Given the description of an element on the screen output the (x, y) to click on. 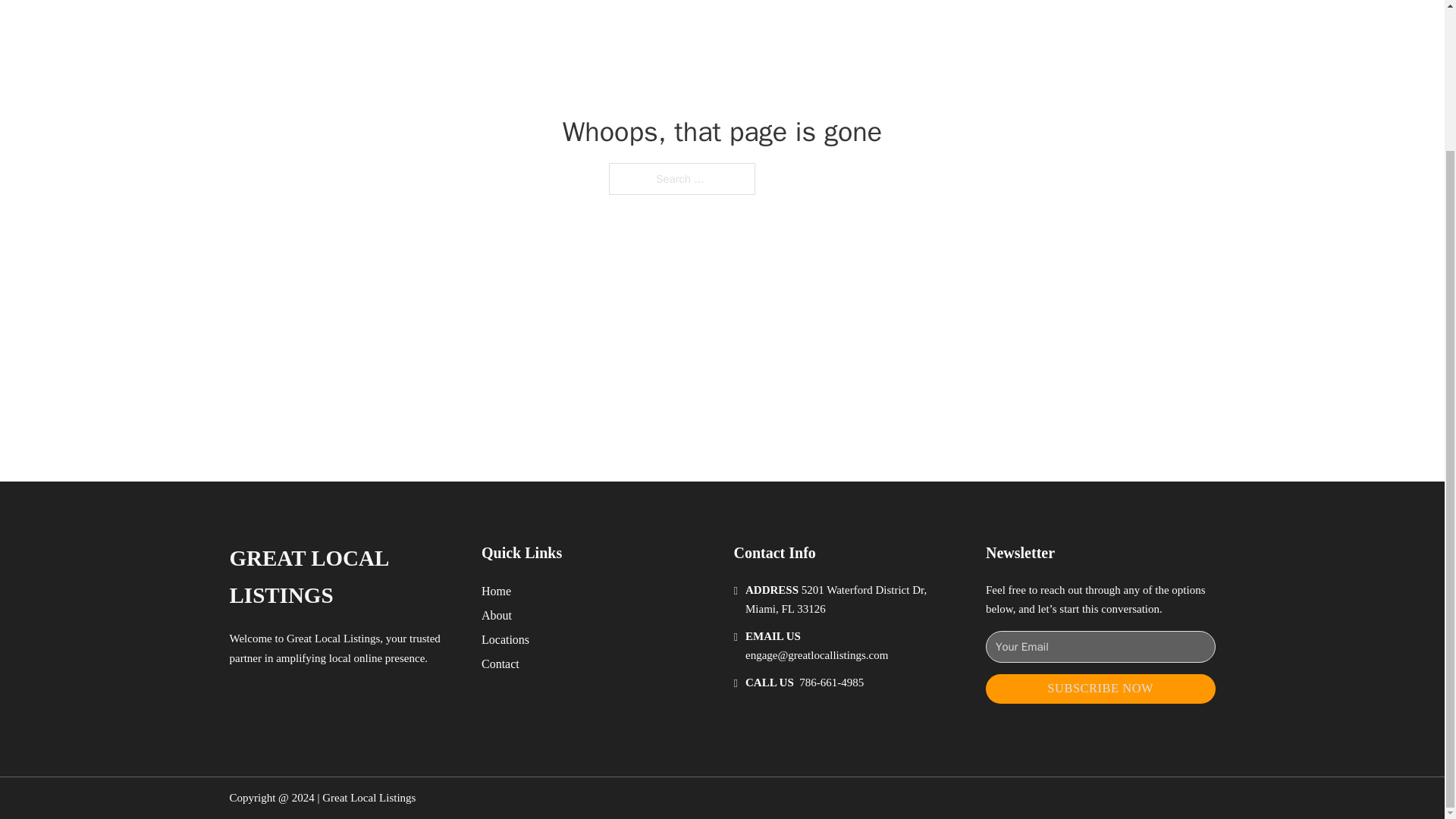
Locations (505, 639)
SUBSCRIBE NOW (1100, 688)
GREAT LOCAL LISTINGS (343, 577)
Home (496, 590)
About (496, 615)
Contact (500, 663)
